Given the description of an element on the screen output the (x, y) to click on. 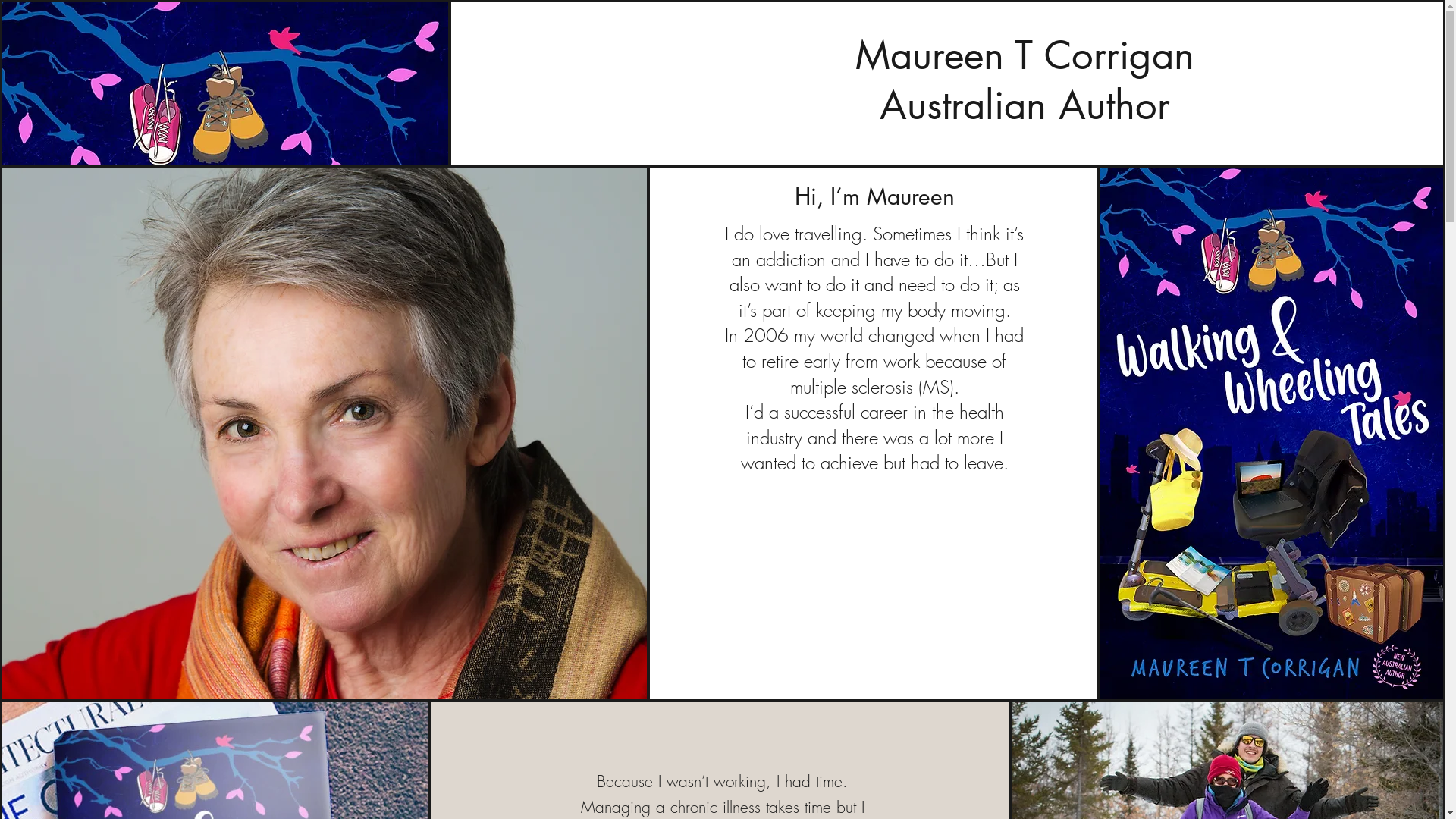
Australian Author Element type: text (1024, 105)
Maureen T Corrigan Element type: text (1024, 55)
